Given the description of an element on the screen output the (x, y) to click on. 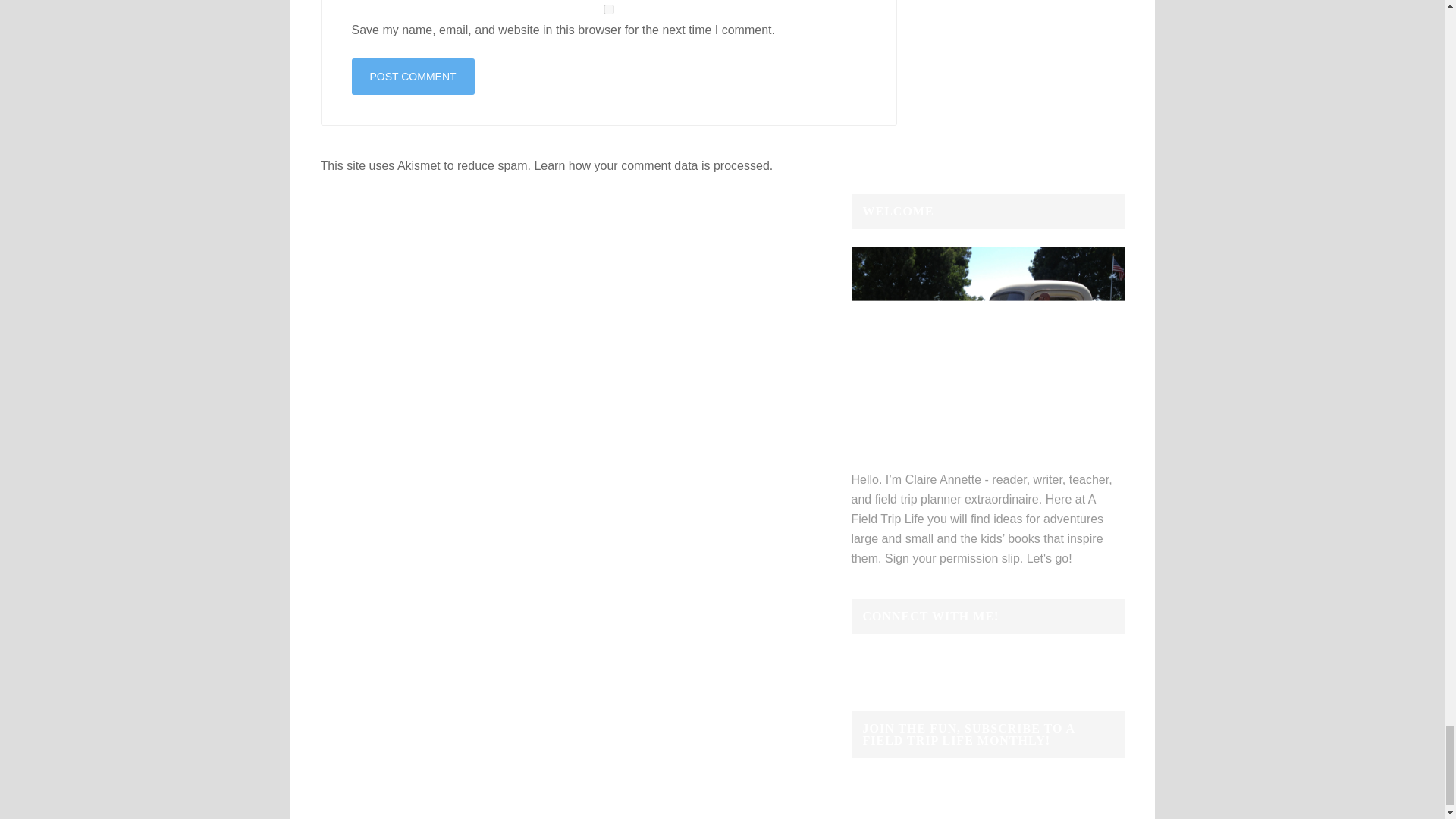
Post Comment (413, 76)
yes (609, 9)
Learn how your comment data is processed (651, 164)
Post Comment (413, 76)
